Given the description of an element on the screen output the (x, y) to click on. 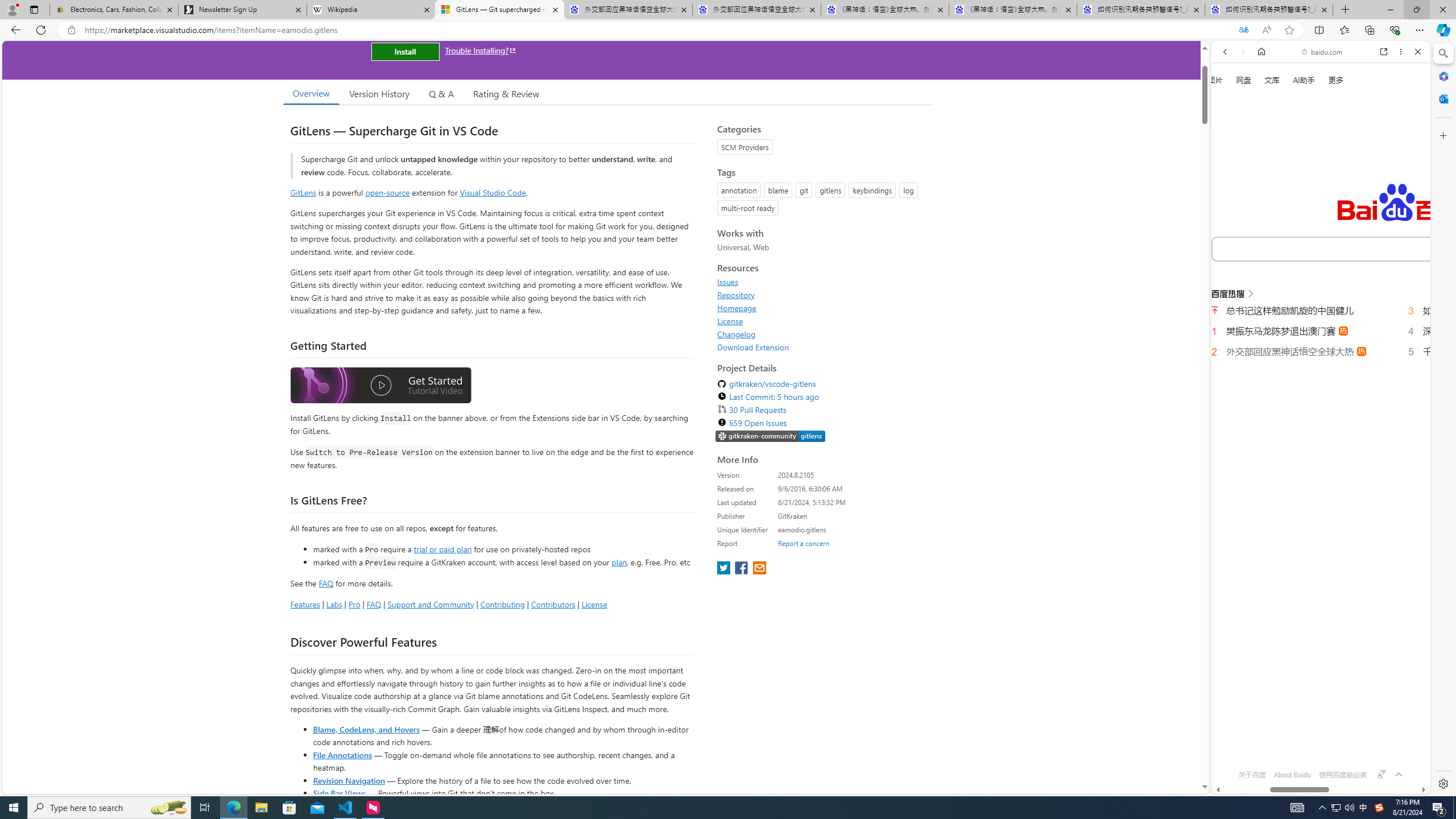
Homepage (737, 307)
Open link in new tab (1383, 51)
Search the web (1326, 78)
GitLens (303, 192)
